Given the description of an element on the screen output the (x, y) to click on. 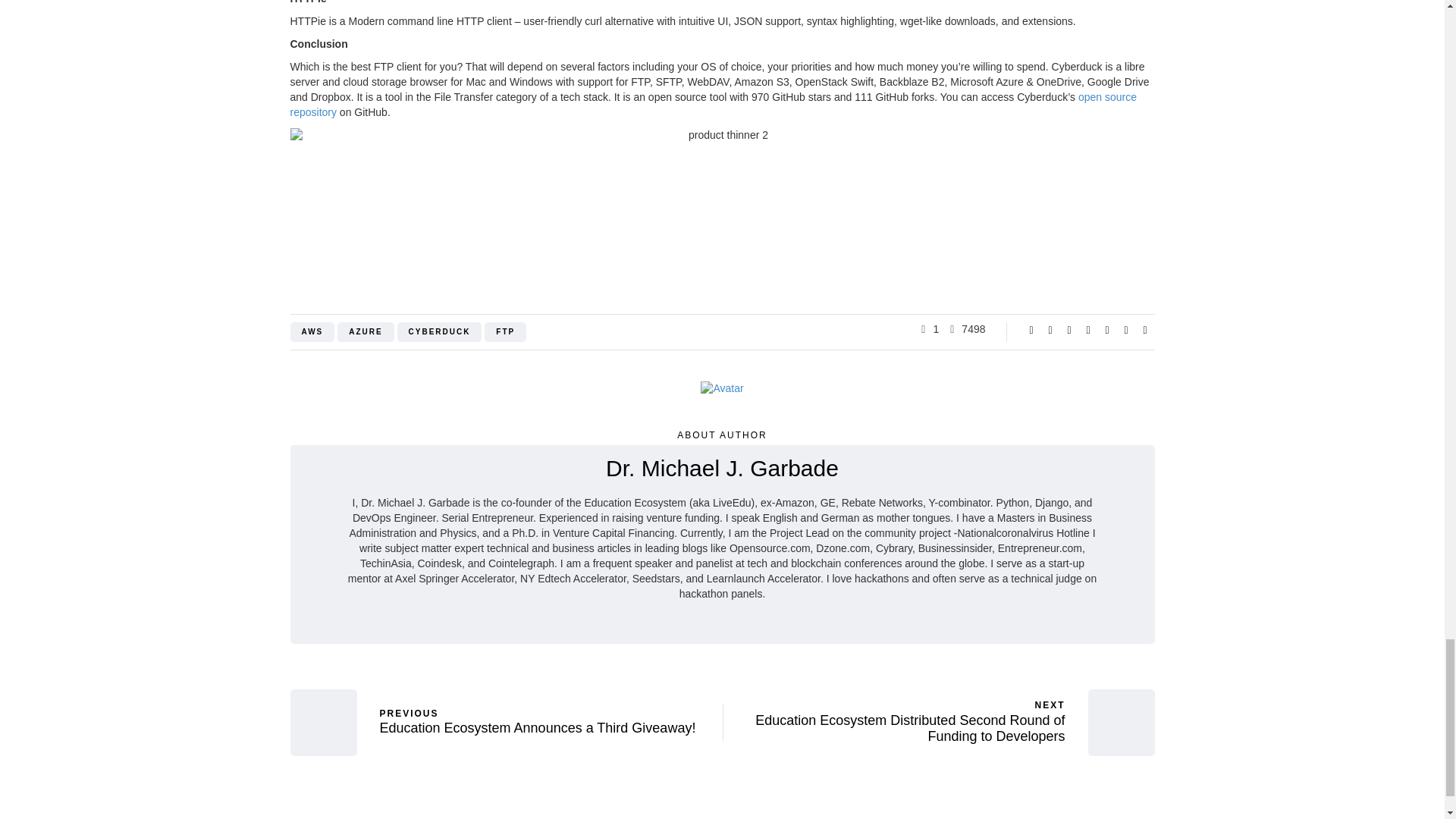
Share with VKontakte (1125, 329)
Tweet this (1050, 329)
Share with Facebook (1031, 329)
Share with Google Plus (1068, 329)
Share by Email (1144, 329)
Share with LinkedIn (1087, 329)
Pin this (1106, 329)
Posts by Dr. Michael J. Garbade (721, 467)
